Given the description of an element on the screen output the (x, y) to click on. 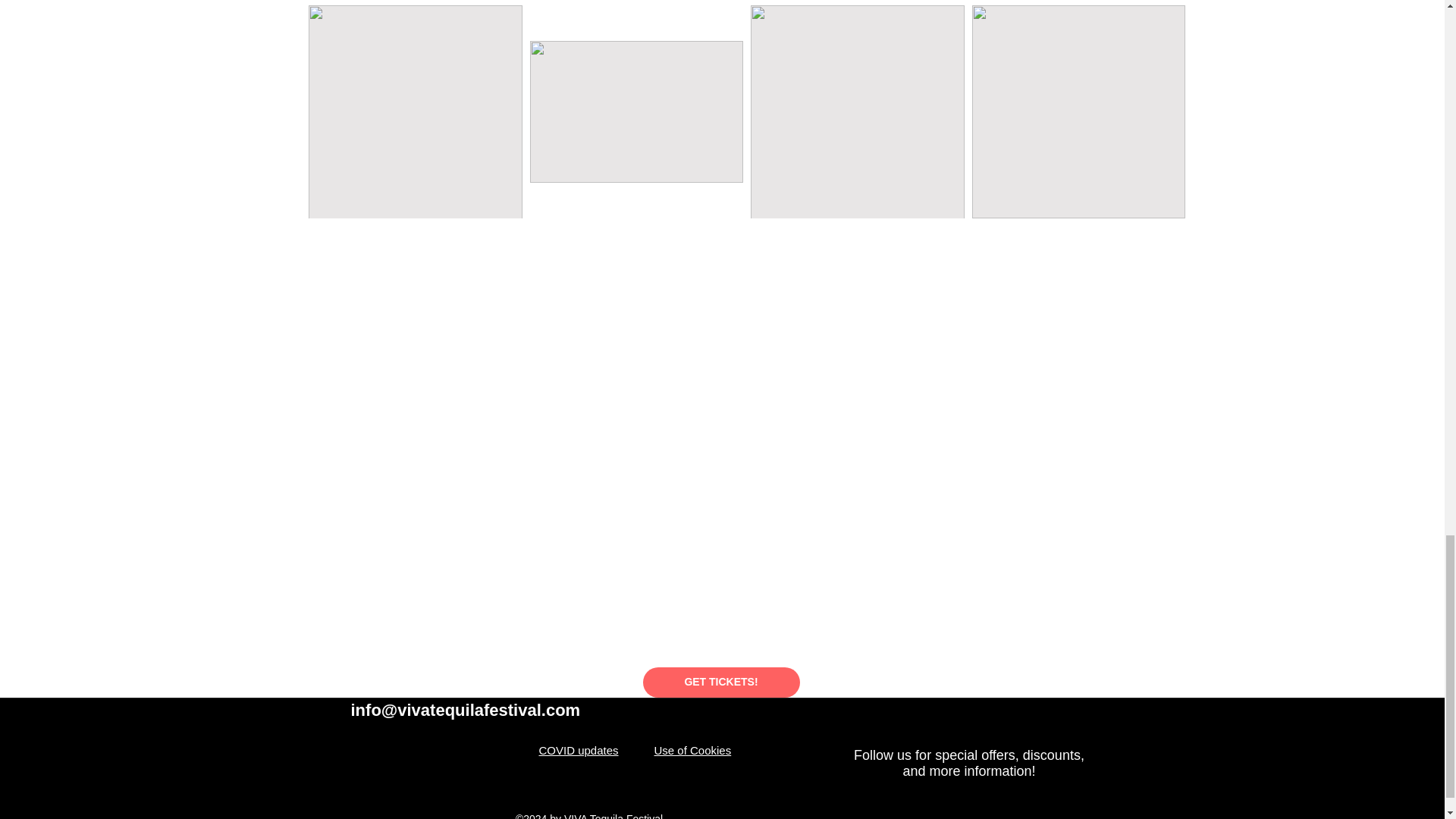
COVID updates (577, 749)
Use of Cookies (691, 749)
GET TICKETS! (721, 682)
